Given the description of an element on the screen output the (x, y) to click on. 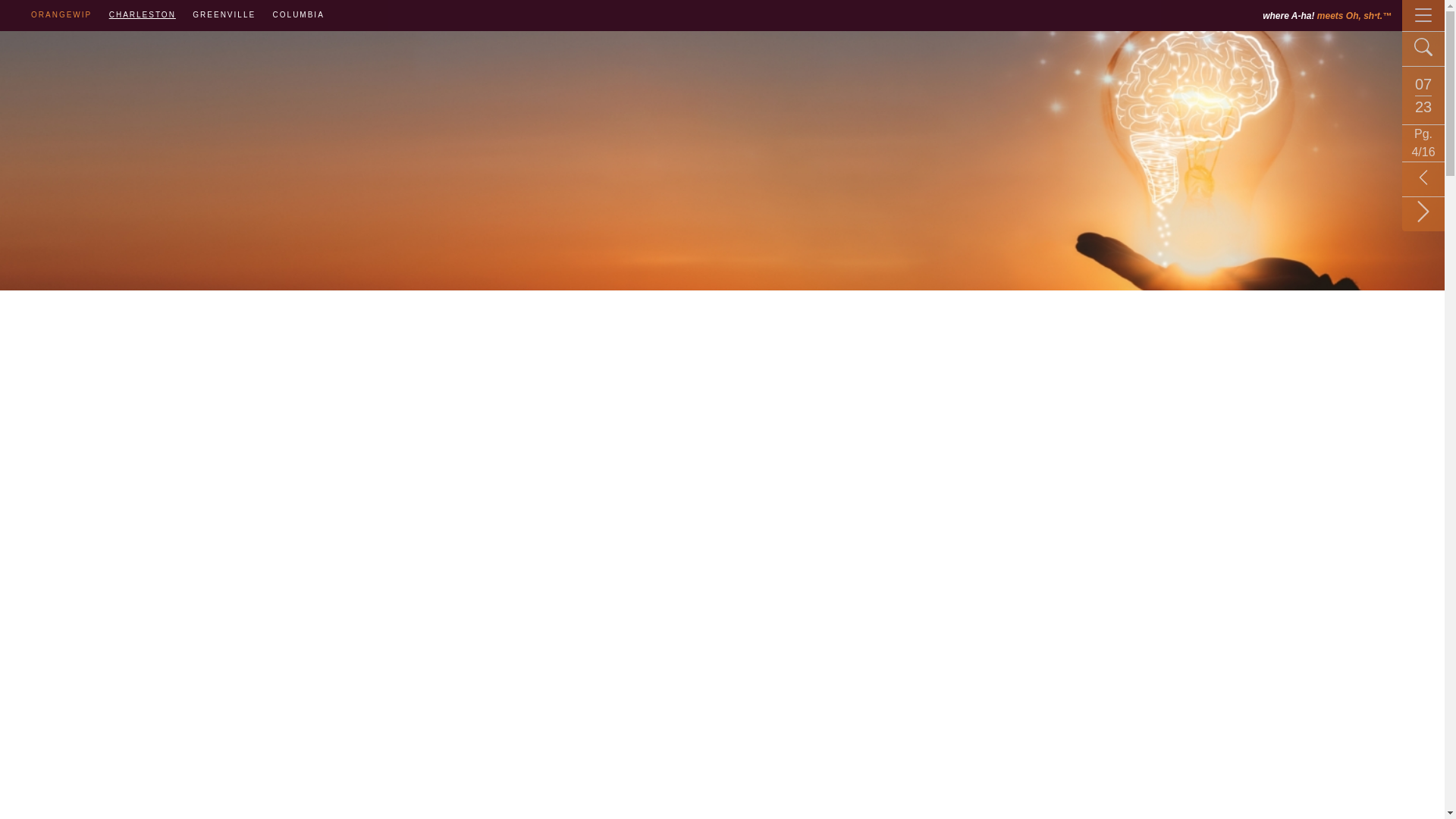
CHARLESTON (142, 14)
GREENVILLE (224, 14)
COLUMBIA (298, 14)
ORANGEWIP (60, 14)
